Given the description of an element on the screen output the (x, y) to click on. 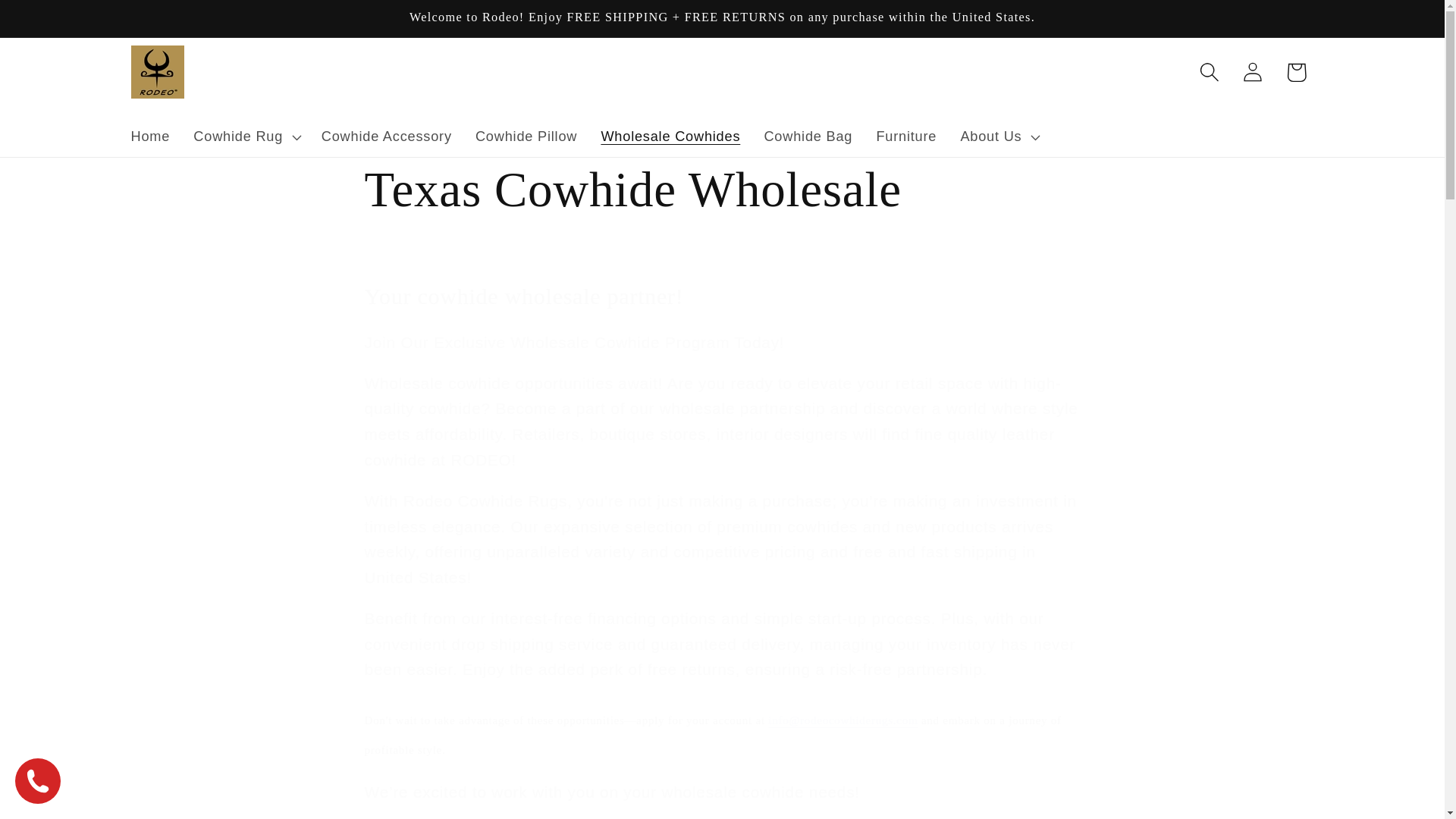
Direkt zum Inhalt (59, 22)
Texas Cowhide Wholesale (722, 189)
